Given the description of an element on the screen output the (x, y) to click on. 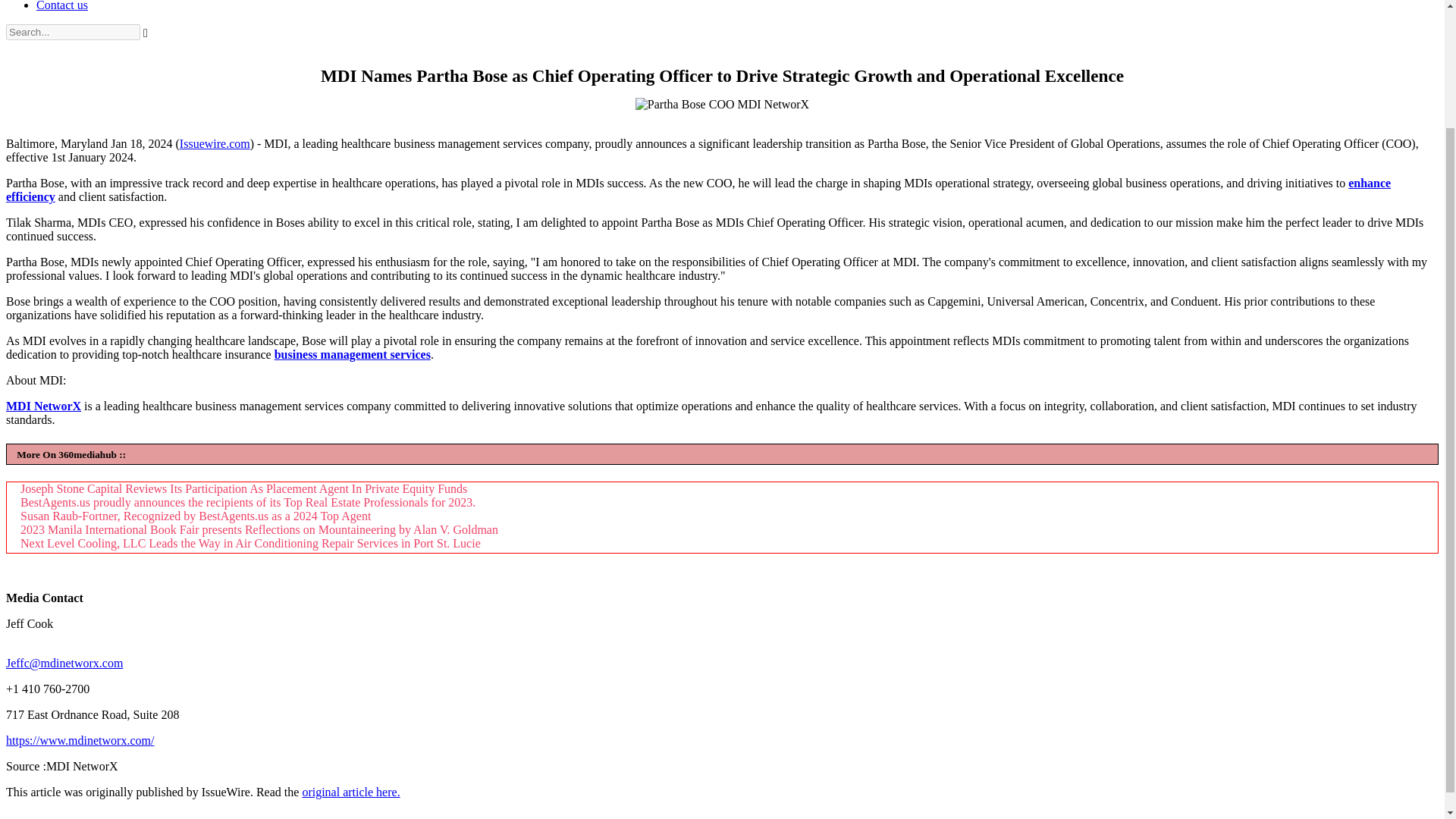
original article here. (349, 791)
MDI NetworX (43, 405)
enhance efficiency (697, 189)
Issuewire.com (214, 143)
Partha Bose COO MDI NetworX (721, 104)
Contact us (61, 5)
business management services (352, 354)
